Given the description of an element on the screen output the (x, y) to click on. 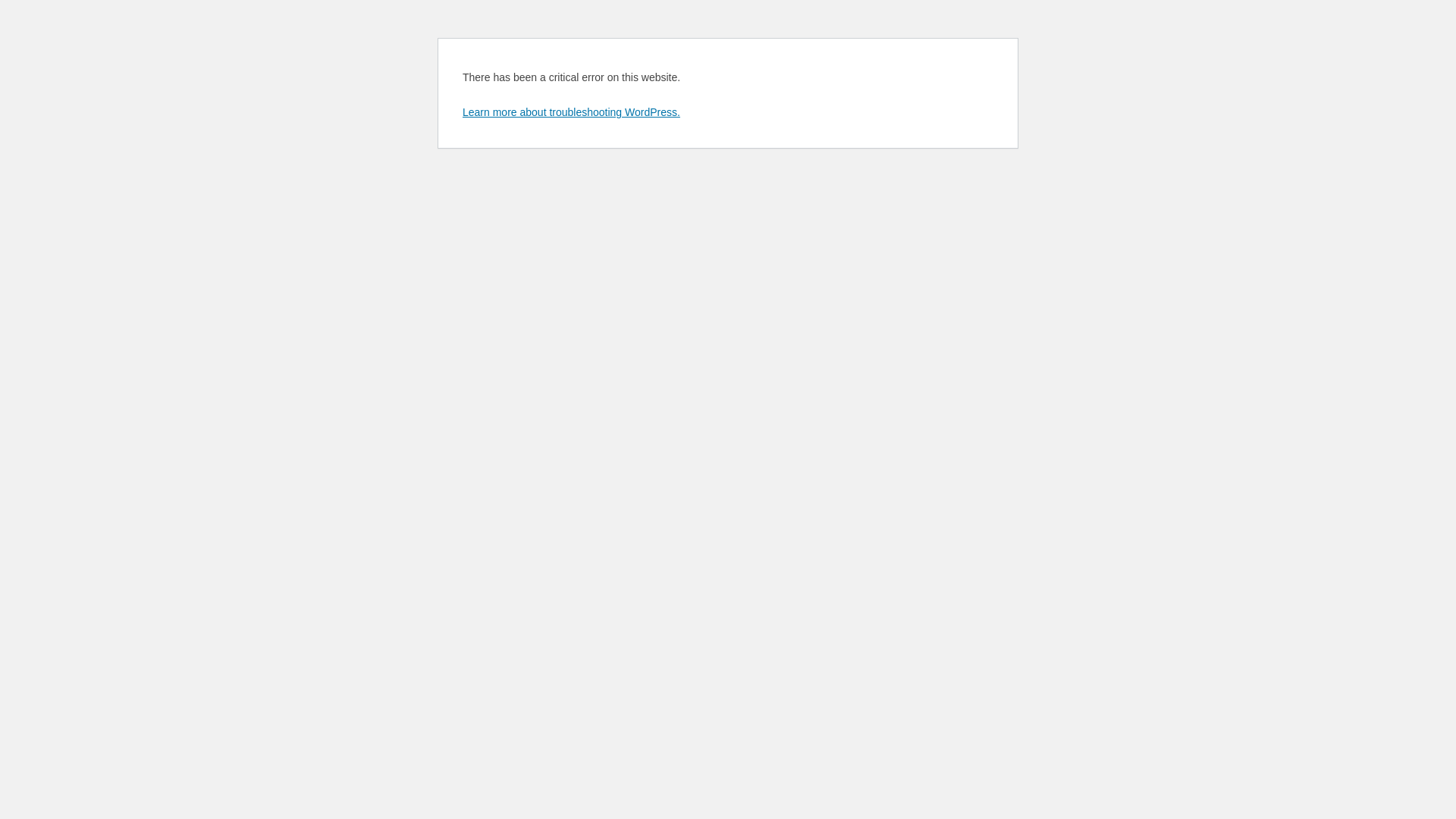
Learn more about troubleshooting WordPress. Element type: text (571, 112)
